Given the description of an element on the screen output the (x, y) to click on. 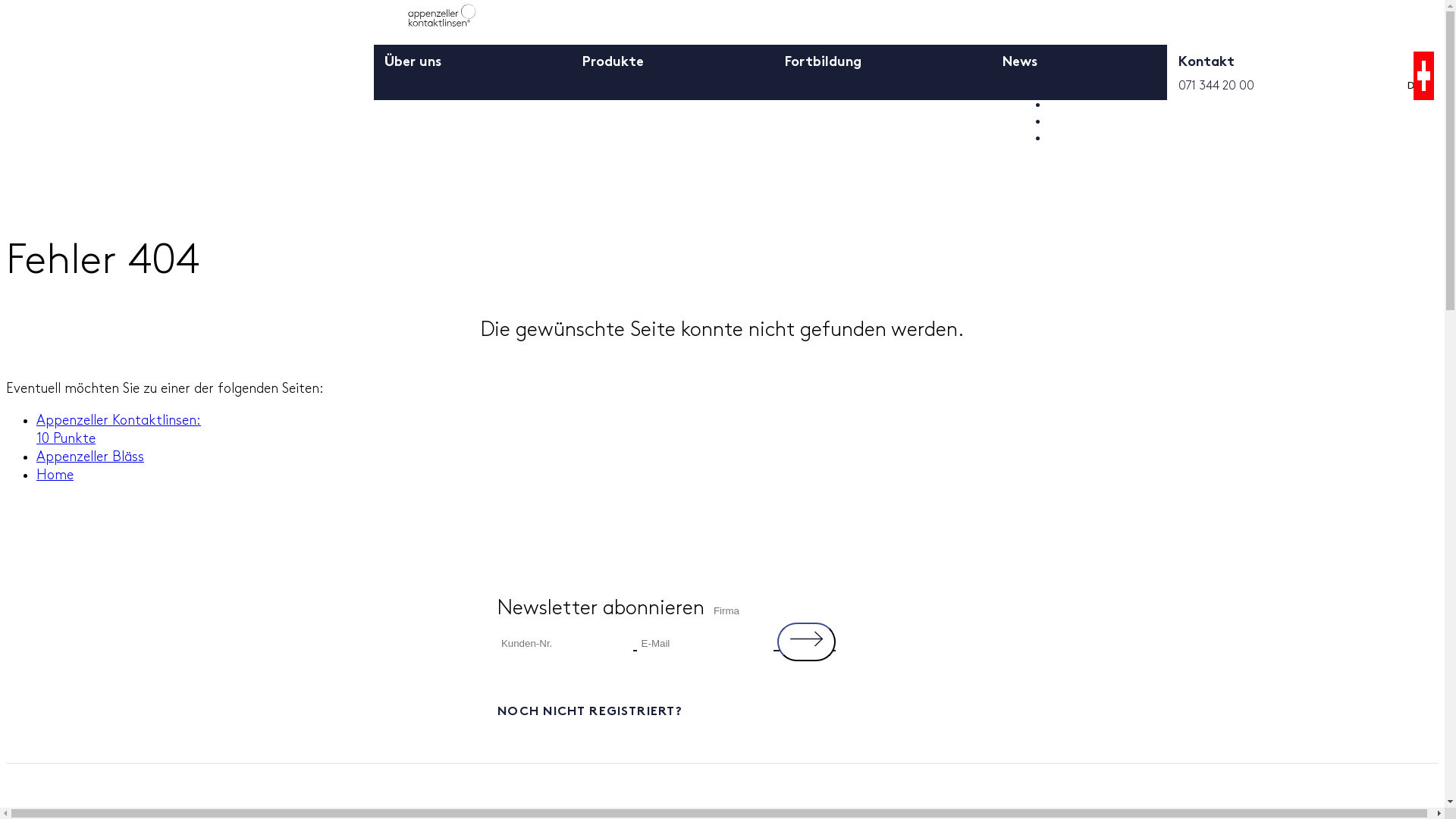
FACEBOOK Element type: text (1111, 189)
071 344 20 00 Element type: text (1216, 85)
Appenzeller Kontaktlinsen:
10 Punkte Element type: text (118, 428)
BESTELLEN Element type: text (1086, 104)
Home Element type: text (54, 474)
NOCH NICHT REGISTRIERT? Element type: text (722, 709)
Fortbildung Element type: text (822, 70)
LOGIN Element type: text (1070, 88)
Produkte Element type: text (612, 70)
INSTAGRAM Element type: text (1316, 189)
News Element type: text (1019, 70)
Kontakt Element type: text (1206, 70)
DOWNLOADS Element type: text (1093, 121)
SUPPORT Element type: text (1079, 138)
